Given the description of an element on the screen output the (x, y) to click on. 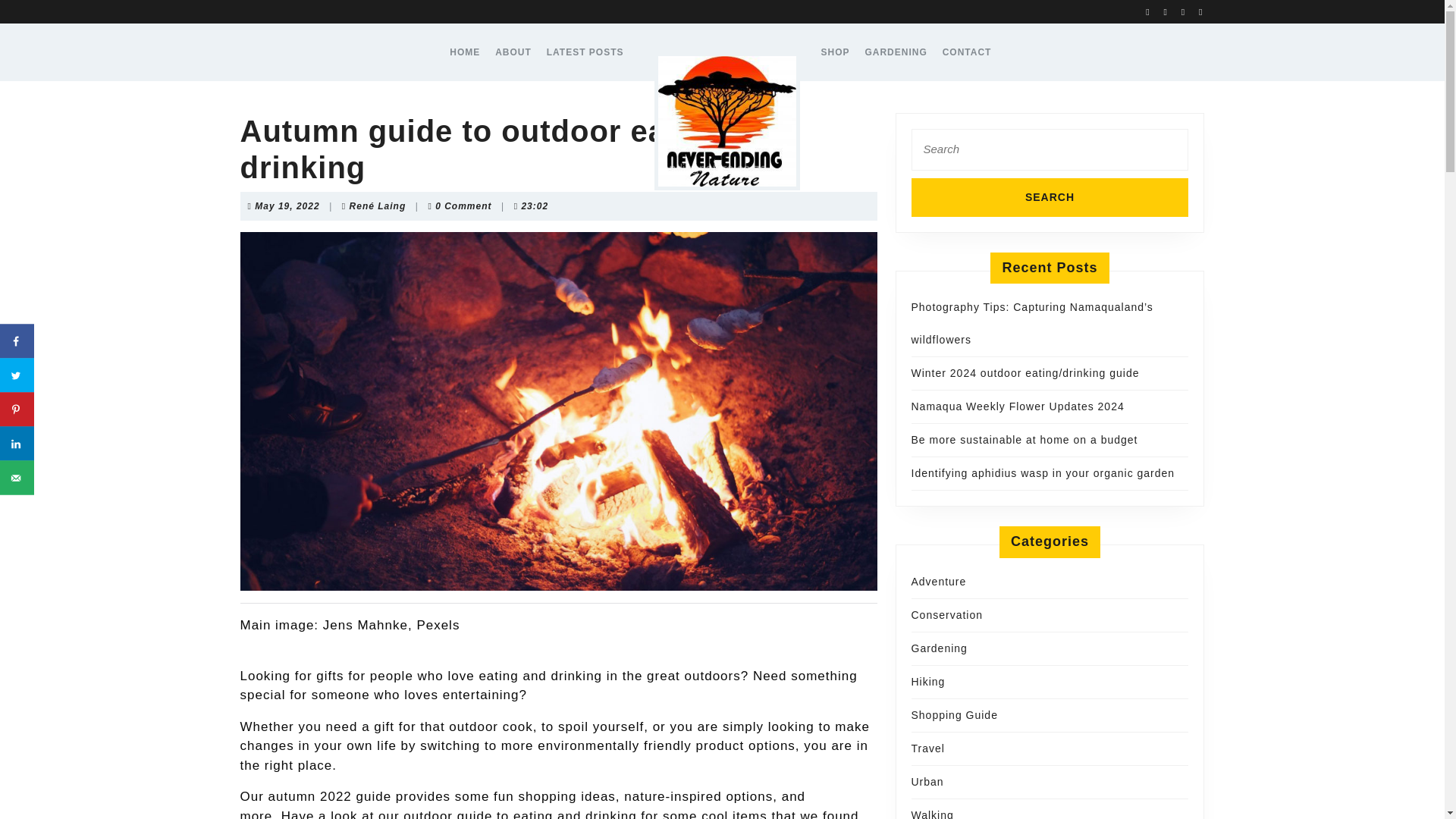
CONTACT (966, 52)
SHOP (834, 52)
Share on LinkedIn (286, 205)
Search (16, 442)
Save to Pinterest (1050, 196)
Share on Facebook (16, 409)
Search (16, 341)
Pinterest (1050, 196)
HOME (1187, 10)
